Given the description of an element on the screen output the (x, y) to click on. 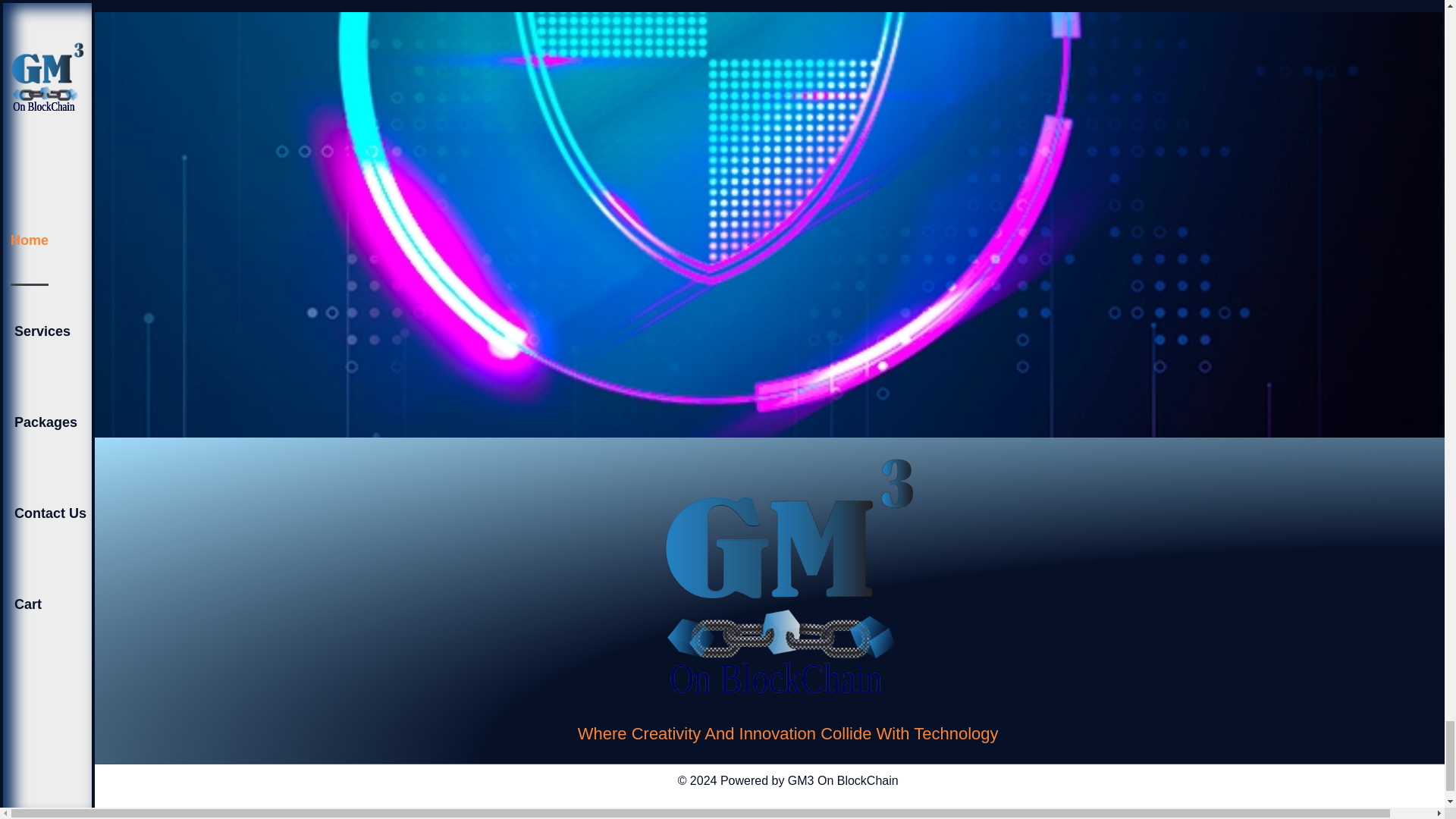
gm3onblockchain.ETH (787, 813)
